Given the description of an element on the screen output the (x, y) to click on. 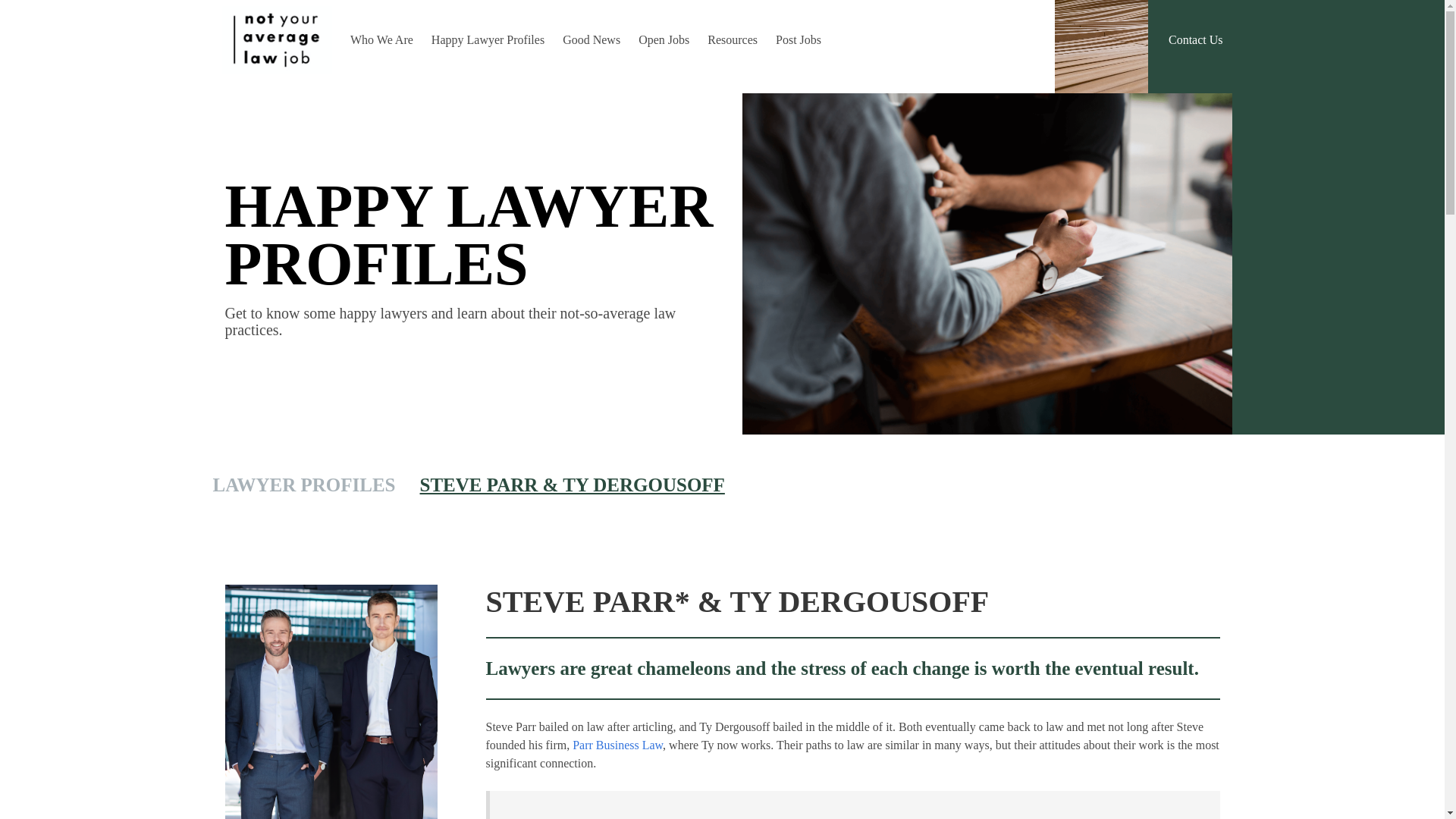
Happy Lawyer Profiles (487, 40)
Who We Are (381, 40)
Post Jobs (798, 40)
Good News (590, 40)
Open Jobs (663, 40)
Contact Us (1194, 40)
Resources (732, 40)
LAWYER PROFILES (303, 485)
Parr Business Law (617, 744)
